Given the description of an element on the screen output the (x, y) to click on. 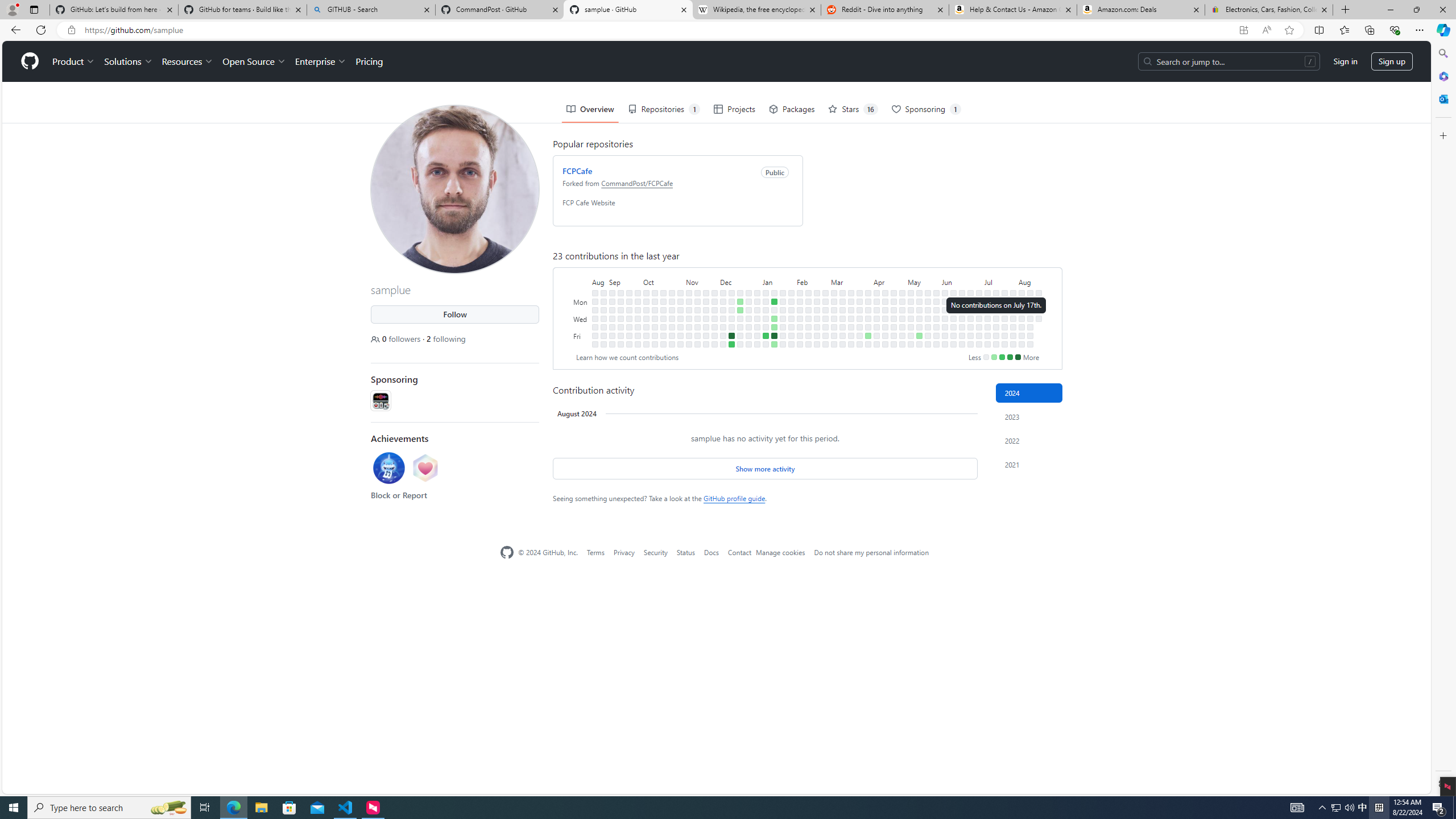
October (663, 280)
CommandPost/FCPCafe (636, 182)
No contributions on July 10th. (987, 318)
2 following (445, 338)
No contributions on May 12th. (919, 292)
No contributions on August 29th. (603, 309)
No contributions on February 18th. (816, 292)
No contributions on January 8th. (765, 301)
Terms (595, 551)
No contributions on April 15th. (885, 301)
No contributions on April 26th. (893, 335)
No contributions on June 17th. (962, 301)
FCPCafePublicForked from CommandPost/FCPCafeFCP Cafe Website (678, 190)
No contributions on January 21st. (783, 292)
